Given the description of an element on the screen output the (x, y) to click on. 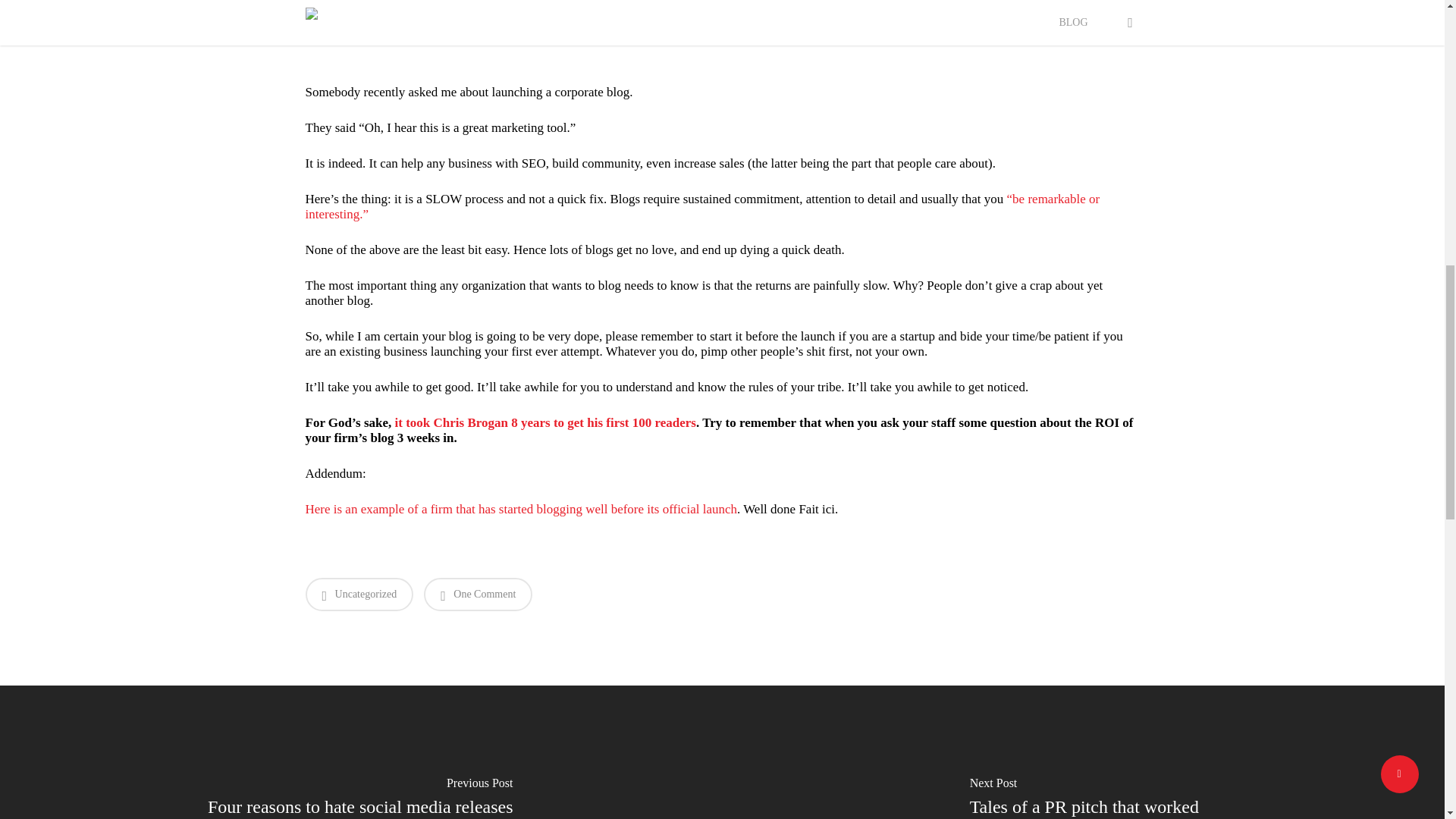
it took Chris Brogan 8 years to get his first 100 readers (544, 422)
Uncategorized (358, 594)
One Comment (477, 594)
